Given the description of an element on the screen output the (x, y) to click on. 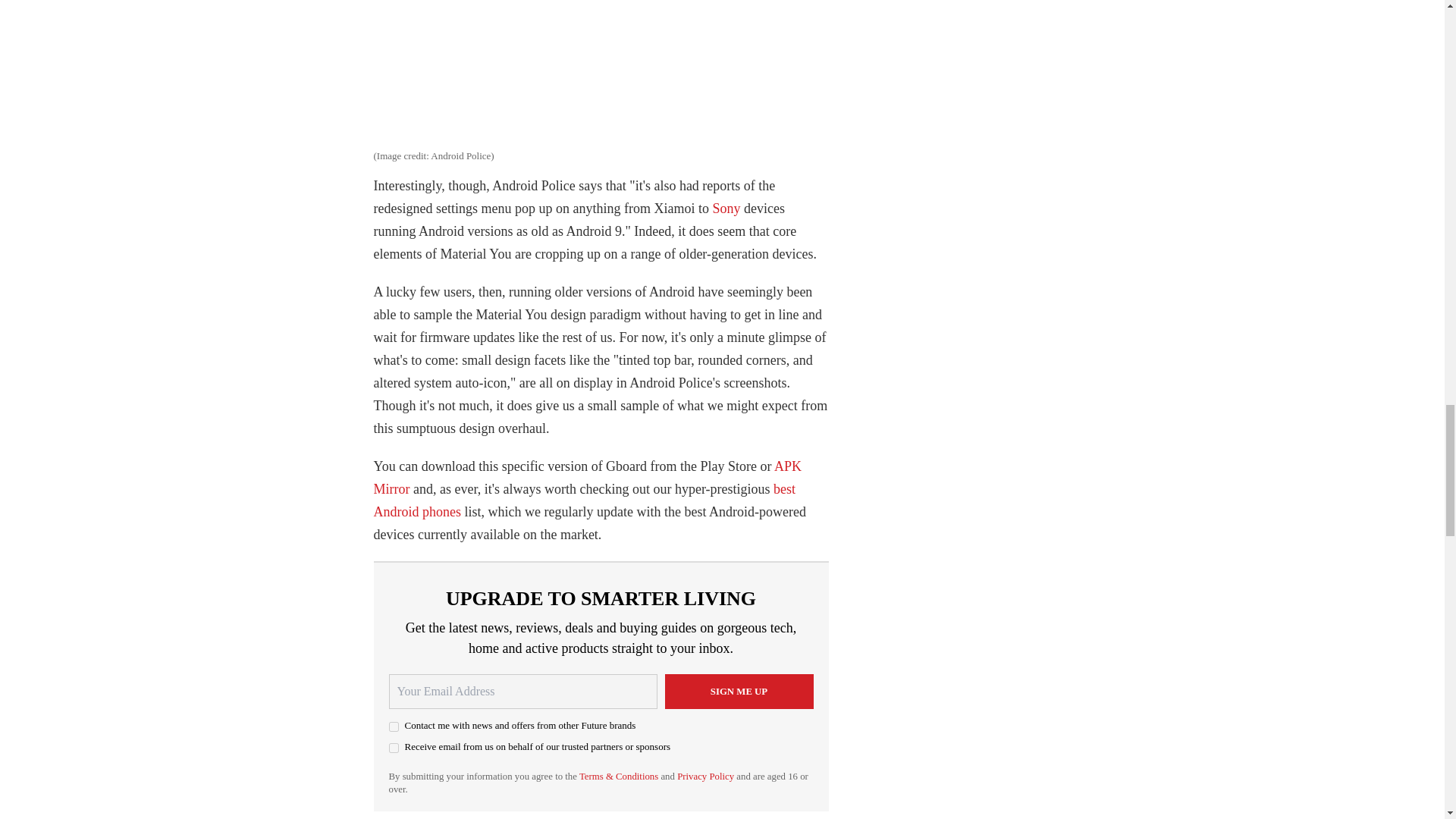
Sign me up (737, 691)
on (392, 726)
on (392, 747)
